Given the description of an element on the screen output the (x, y) to click on. 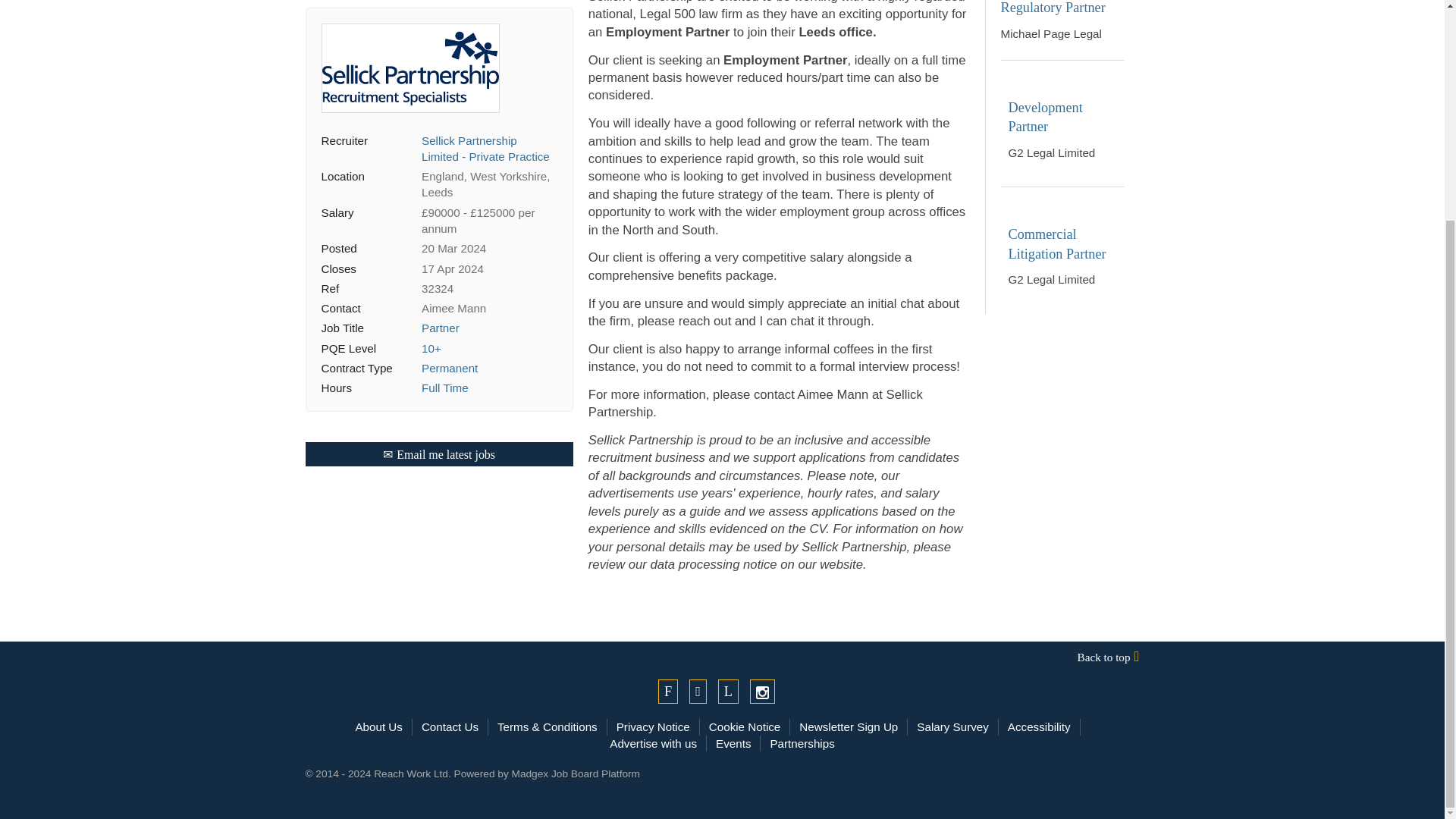
Partner (441, 290)
Sellick Partnership Limited - Private Practice (486, 111)
Back to top (721, 657)
Permanent (449, 330)
Email me latest jobs (438, 416)
Full Time (445, 350)
